Given the description of an element on the screen output the (x, y) to click on. 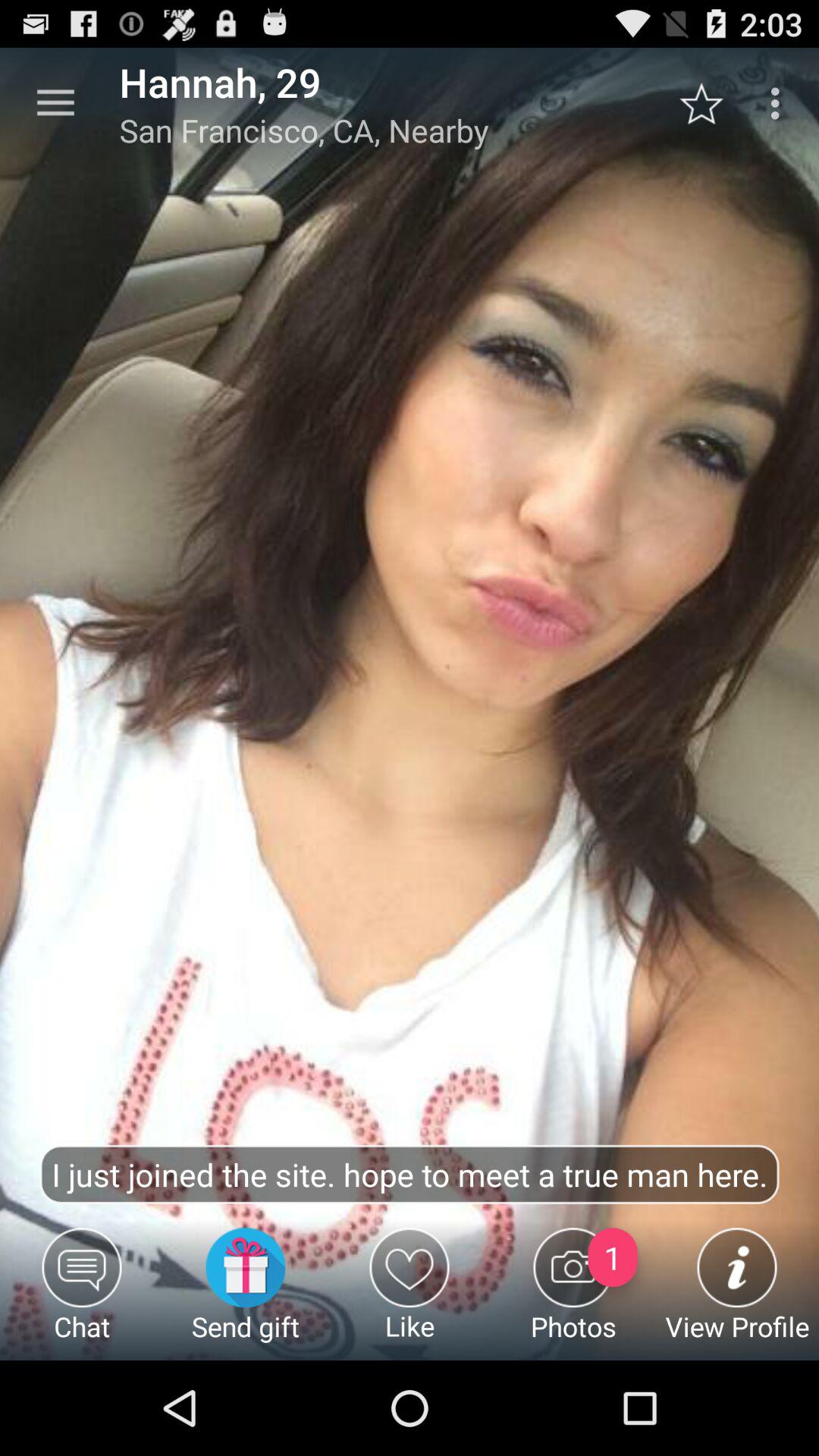
turn on the icon above i just joined icon (55, 103)
